Given the description of an element on the screen output the (x, y) to click on. 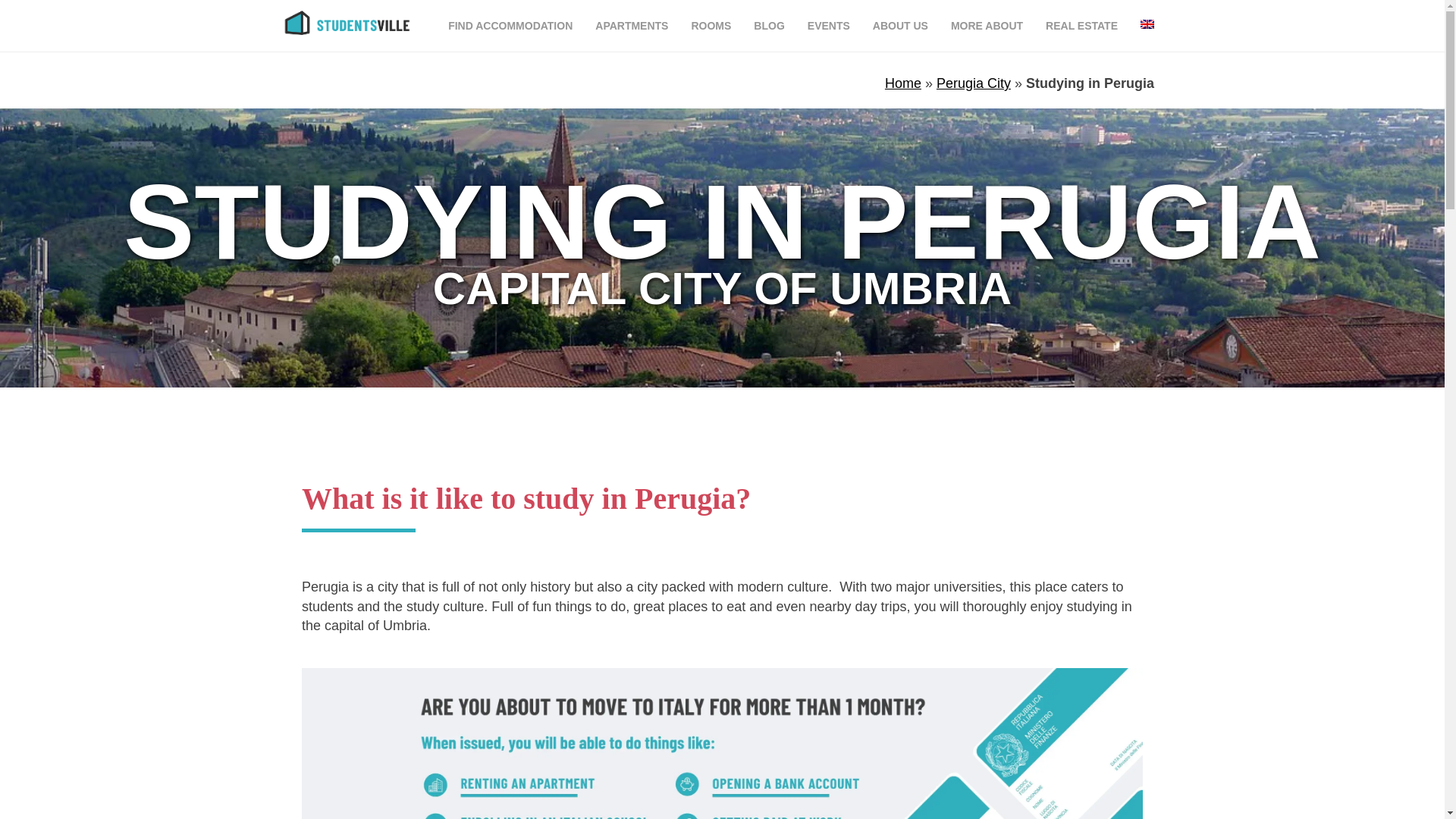
APARTMENTS (631, 25)
FIND ACCOMMODATION (509, 25)
ROOMS (710, 25)
BLOG (768, 25)
